Given the description of an element on the screen output the (x, y) to click on. 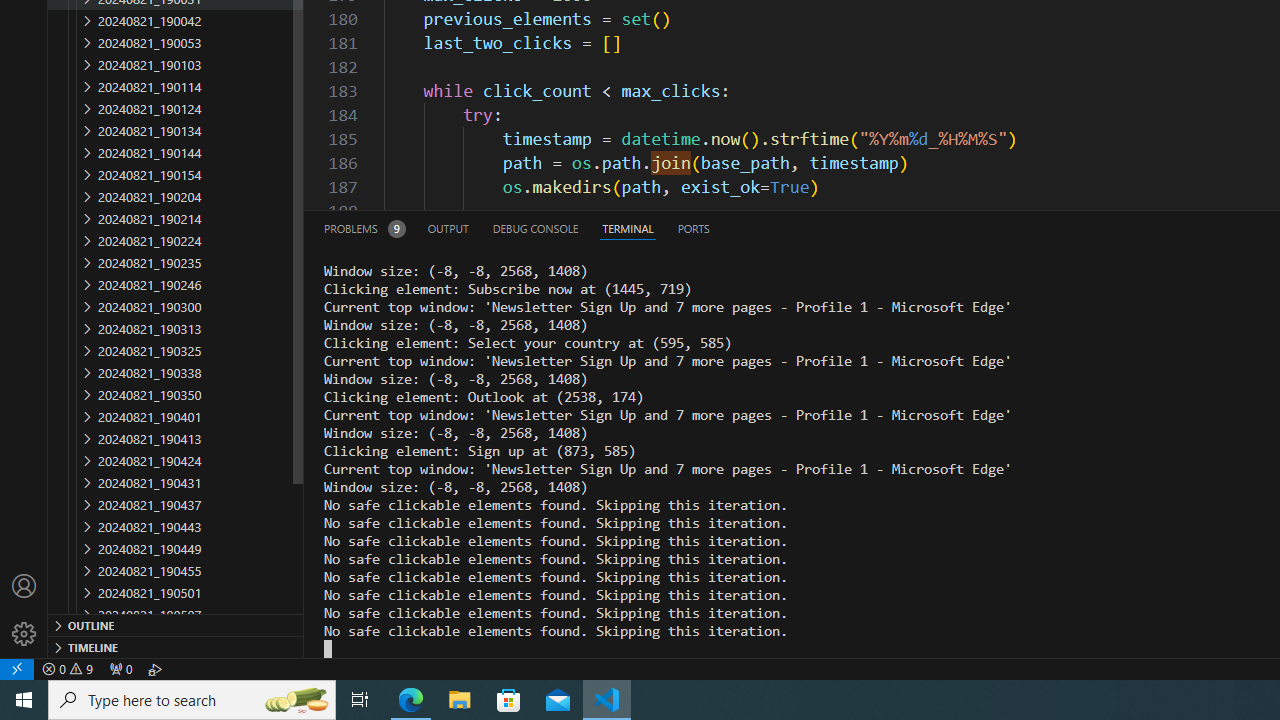
remote (17, 668)
Warnings: 9 (67, 668)
Problems (Ctrl+Shift+M) - Total 9 Problems (364, 228)
Timeline Section (175, 646)
Ports (693, 228)
Output (Ctrl+Shift+U) (447, 228)
Debug:  (155, 668)
Terminal (Ctrl+`) (627, 228)
Accounts (24, 585)
No Ports Forwarded (120, 668)
Debug Console (Ctrl+Shift+Y) (535, 228)
Outline Section (175, 624)
